Given the description of an element on the screen output the (x, y) to click on. 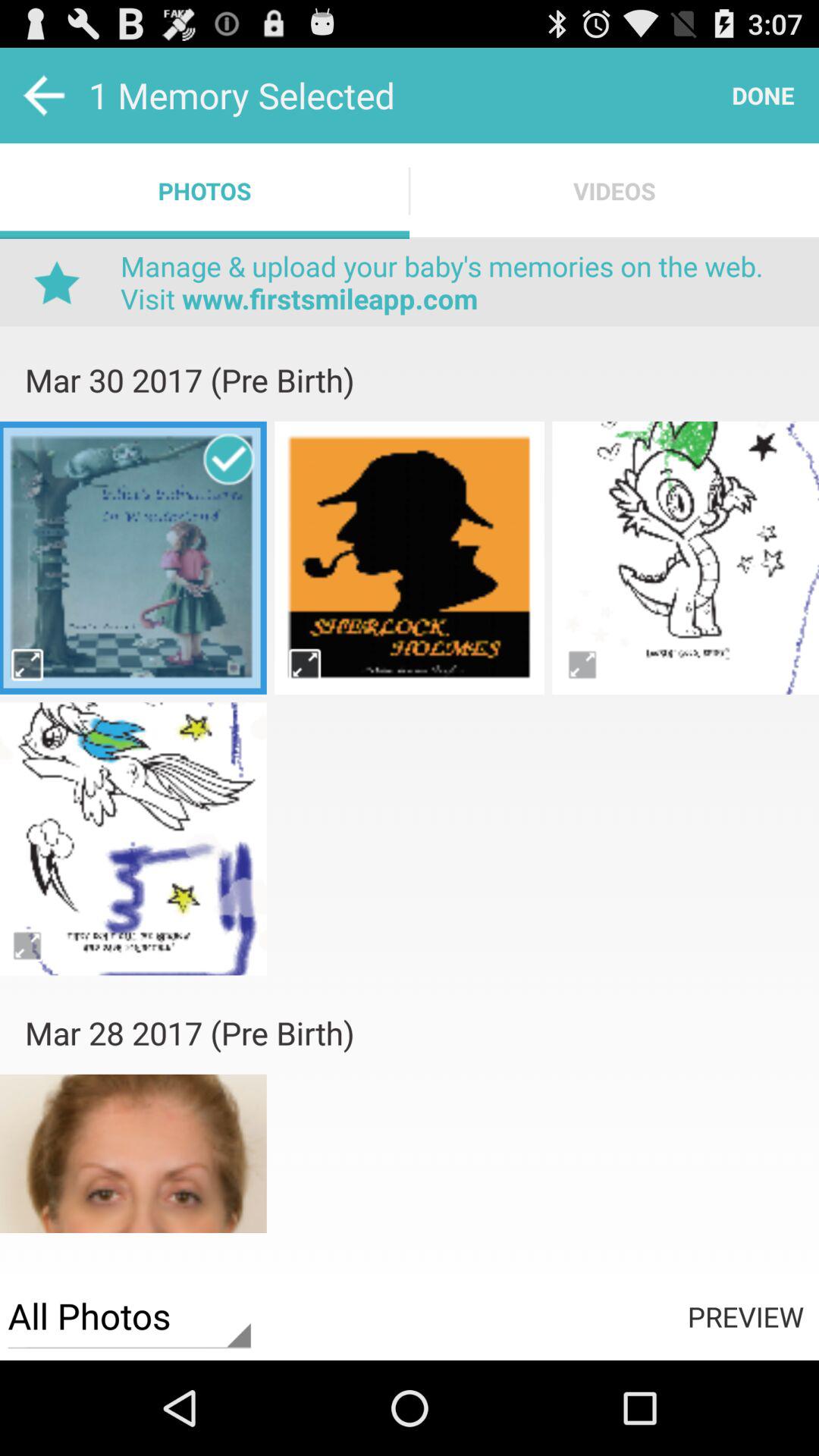
image option (133, 838)
